Given the description of an element on the screen output the (x, y) to click on. 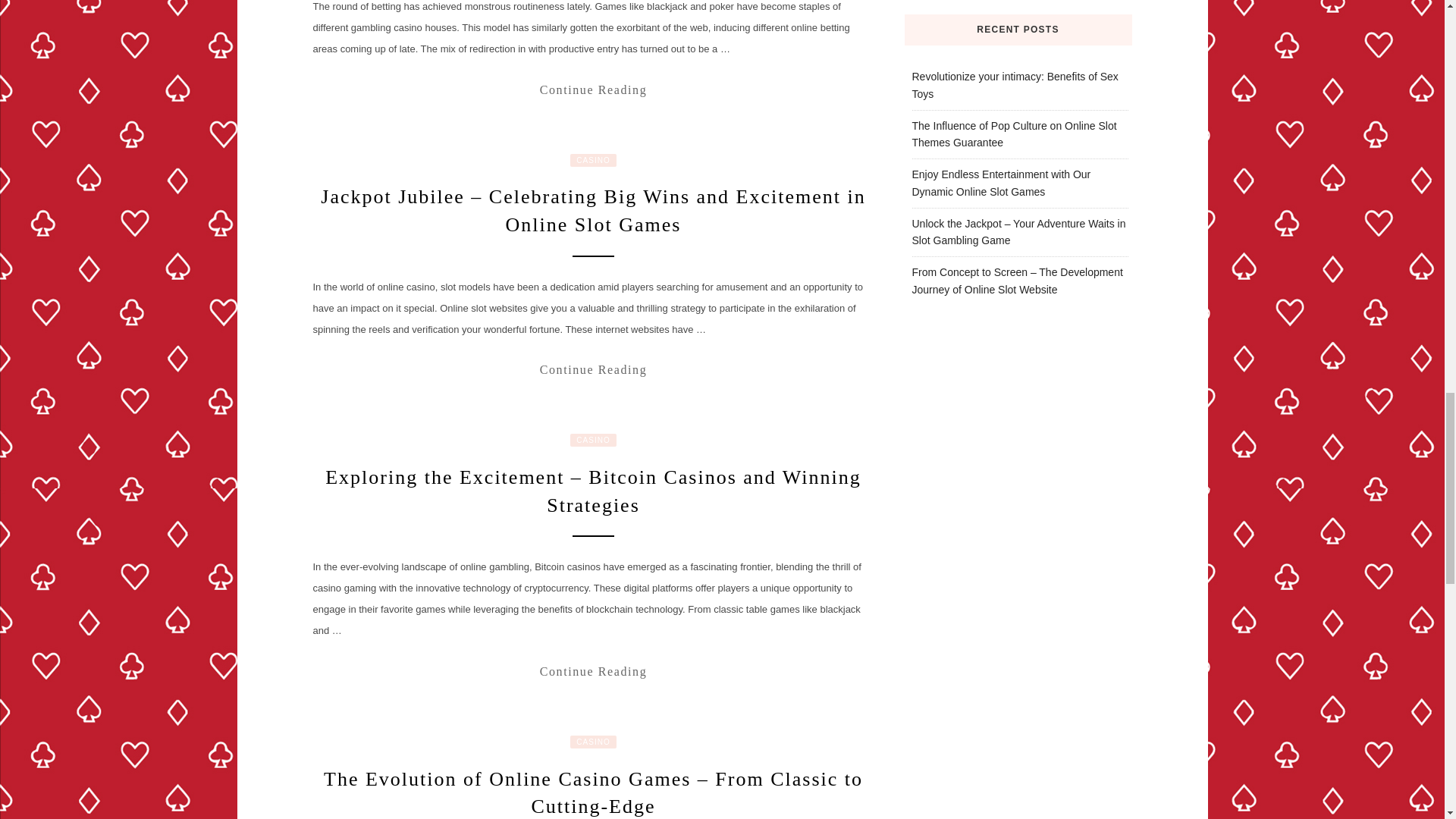
Experience the Glamour of Online Casino Gambling Done Right (593, 89)
Continue Reading (593, 89)
CASINO (592, 160)
Continue Reading (593, 369)
CASINO (592, 440)
Continue Reading (593, 671)
CASINO (592, 741)
